Given the description of an element on the screen output the (x, y) to click on. 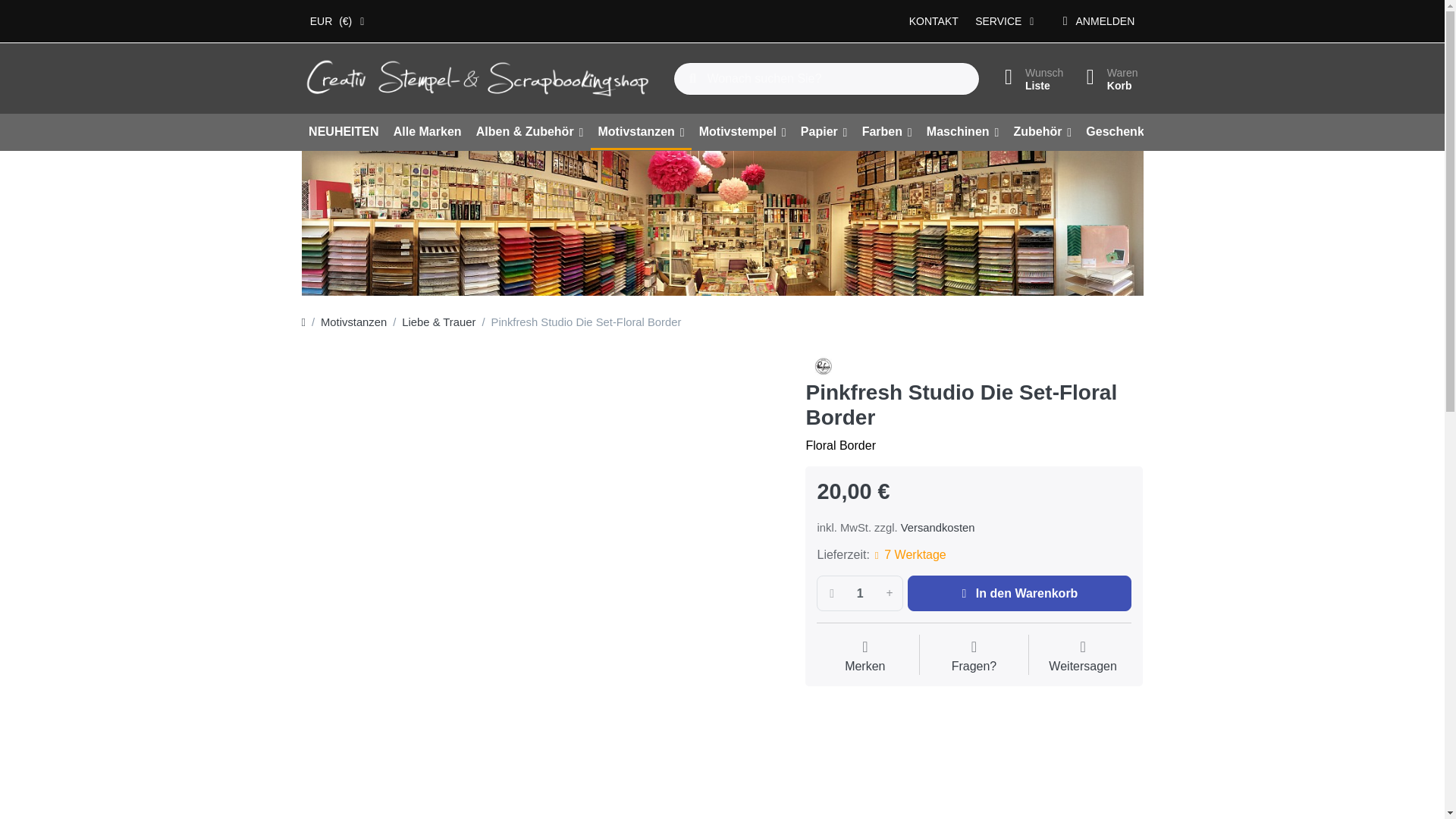
Alle Marken (426, 131)
Maschinen (962, 131)
Fragen zum Artikel? (1107, 78)
Creativ Stempelshop (974, 656)
Alle Produkte von Pinkfresh Studio (481, 78)
Motivstanzen (823, 365)
Papier (641, 131)
Geschenke (823, 131)
